Given the description of an element on the screen output the (x, y) to click on. 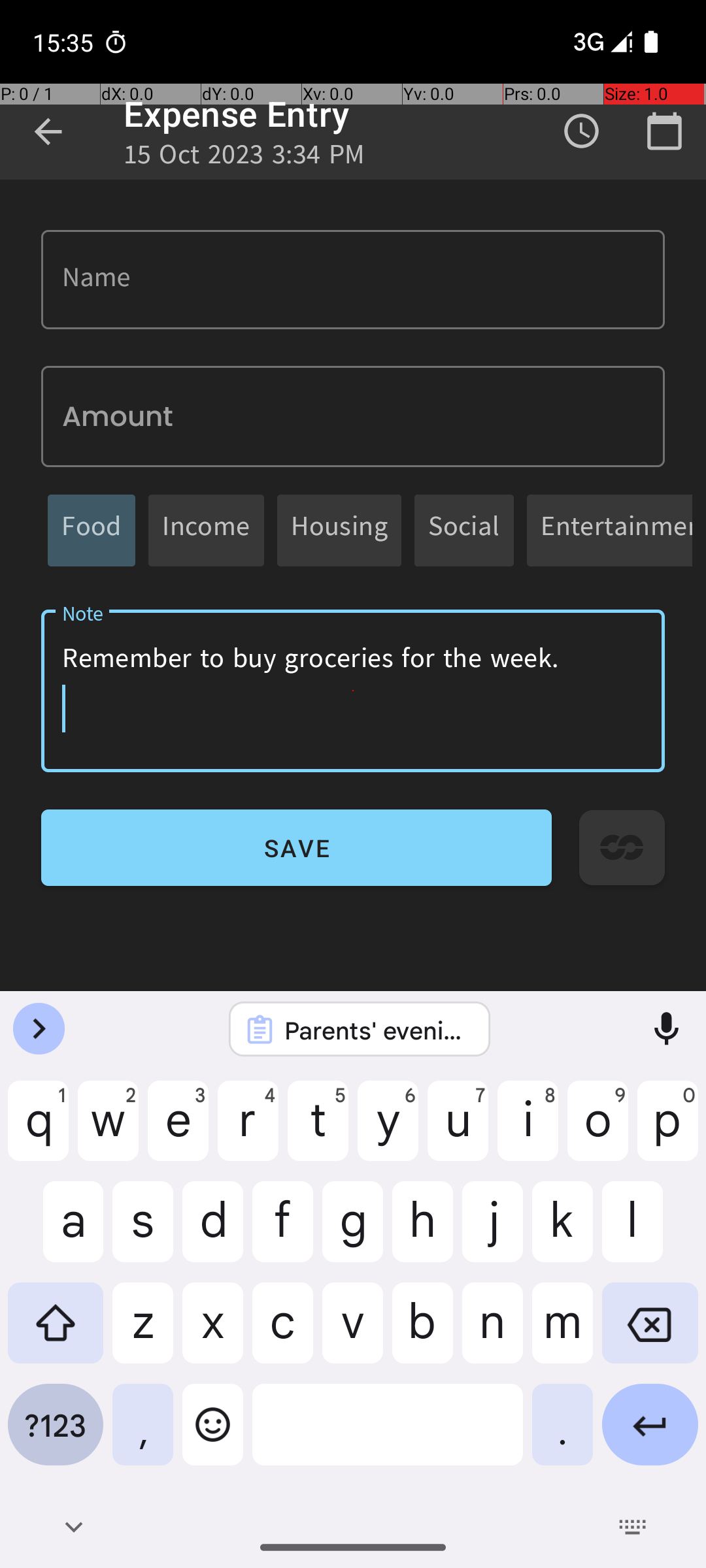
Remember to buy groceries for the week.
 Element type: android.widget.EditText (352, 690)
Parents' evening at school this Wednesday. Element type: android.widget.TextView (376, 1029)
